Given the description of an element on the screen output the (x, y) to click on. 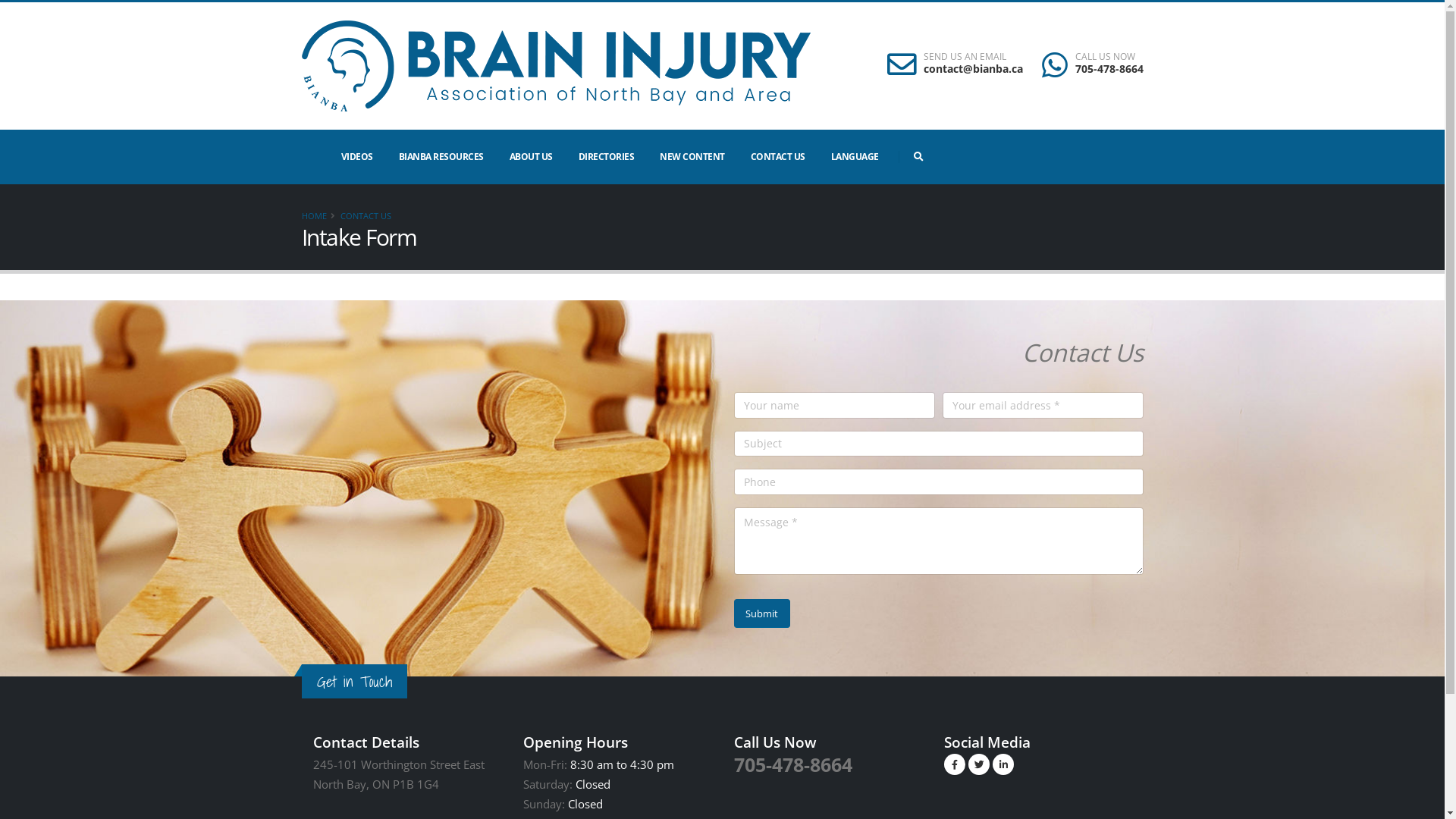
  Element type: text (919, 156)
contact@bianba.ca Element type: text (972, 68)
Facebook Element type: hover (954, 764)
Submit Element type: text (762, 613)
HOME Element type: text (313, 215)
CONTACT US Element type: text (364, 215)
Linkedin Element type: hover (1002, 764)
ABOUT US Element type: text (530, 156)
705-478-8664 Element type: text (1109, 68)
DIRECTORIES Element type: text (605, 156)
NEW CONTENT Element type: text (692, 156)
Twitter Element type: hover (978, 764)
CONTACT US Element type: text (777, 156)
VIDEOS Element type: text (357, 156)
BIANBA RESOURCES Element type: text (440, 156)
toggle search Element type: hover (919, 156)
LANGUAGE Element type: text (855, 156)
705-478-8664 Element type: text (793, 764)
